Given the description of an element on the screen output the (x, y) to click on. 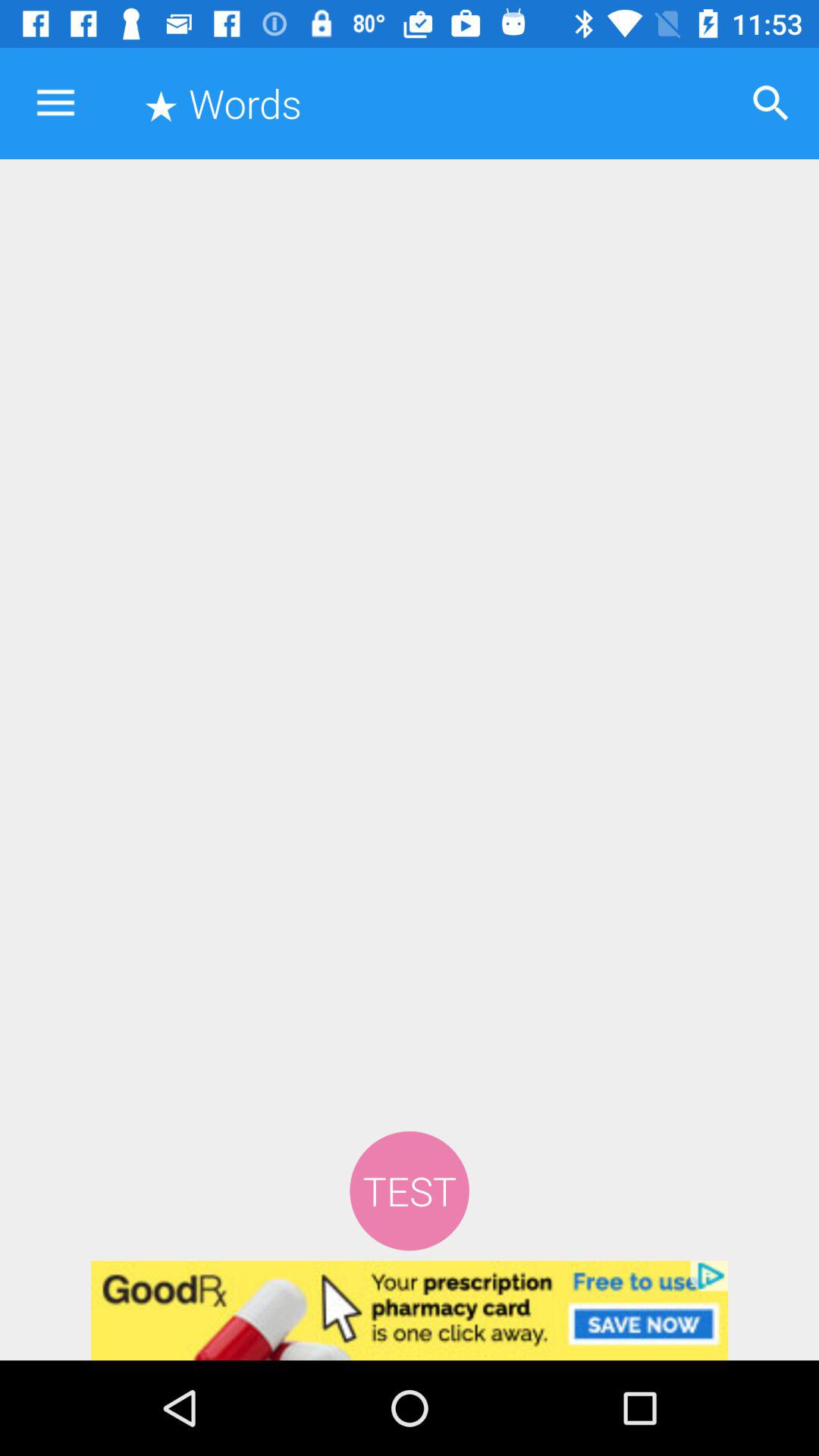
advertisement (409, 1310)
